Given the description of an element on the screen output the (x, y) to click on. 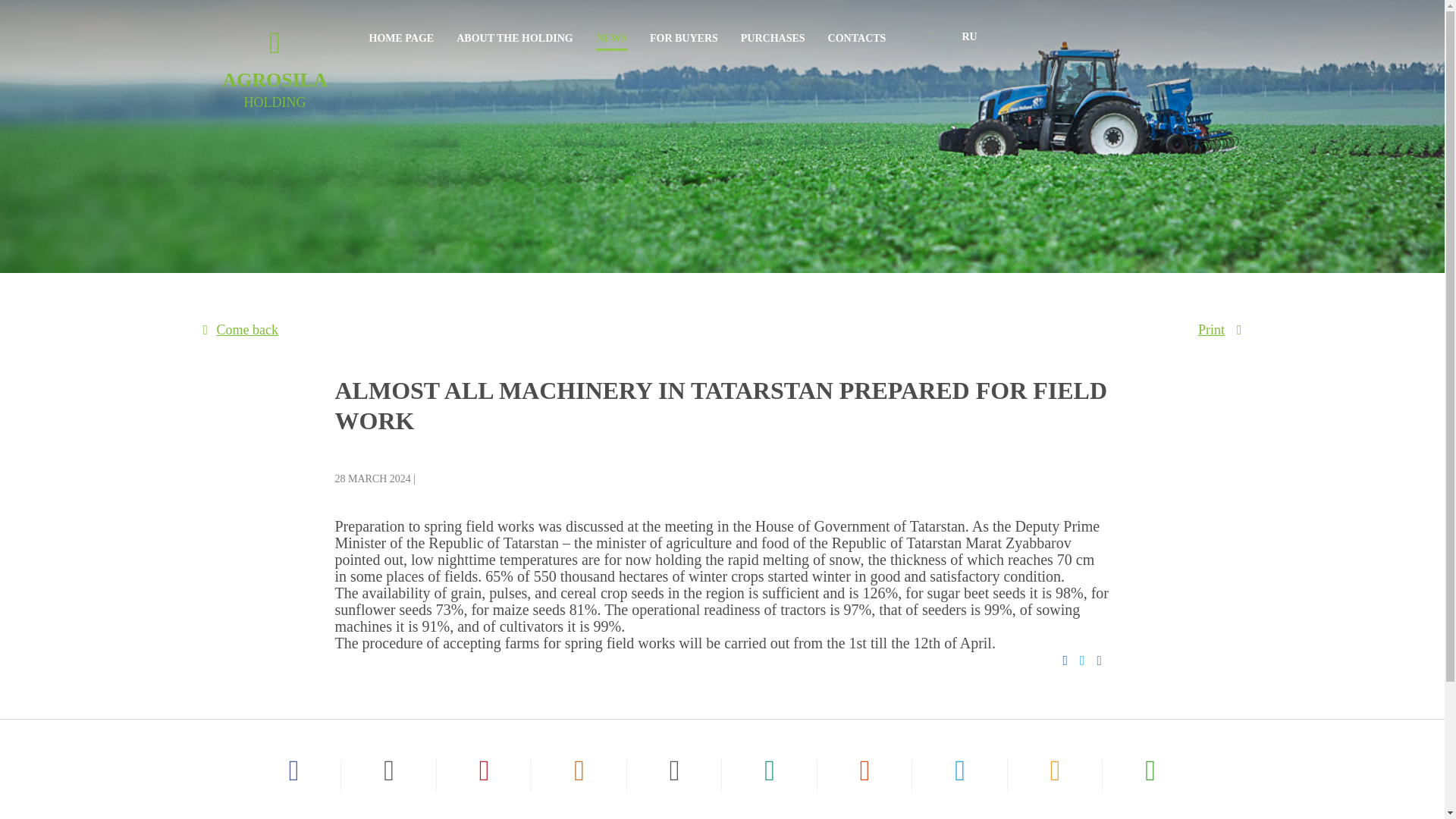
CONTACTS (857, 42)
Come back (240, 329)
FOR BUYERS (275, 67)
ABOUT THE HOLDING (683, 42)
NEWS (515, 42)
HOME PAGE (611, 42)
RU (400, 42)
PURCHASES (968, 36)
Print (773, 42)
